Given the description of an element on the screen output the (x, y) to click on. 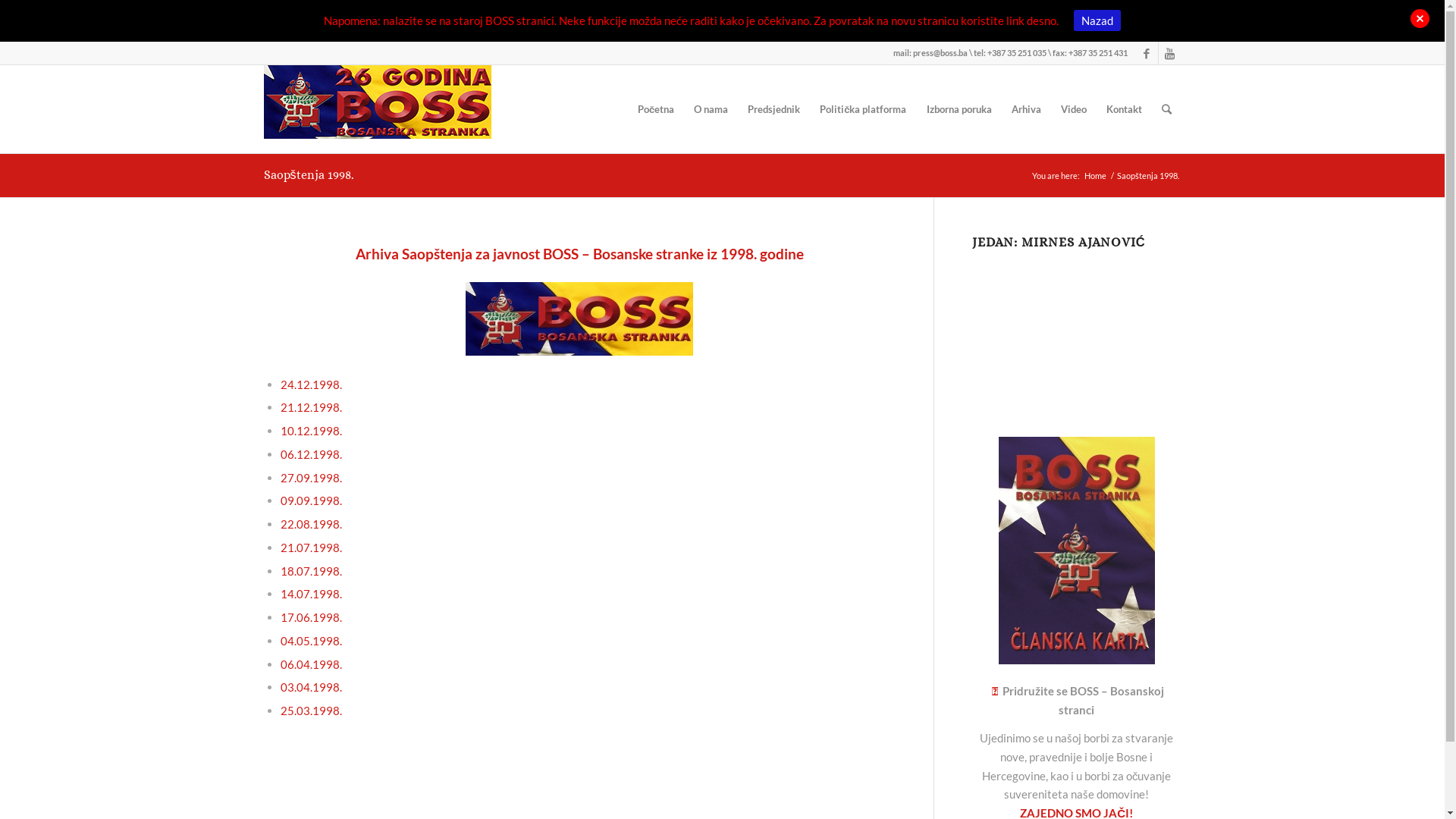
21.12.1998. Element type: text (311, 407)
18.07.1998. Element type: text (311, 570)
Predsjednik Element type: text (773, 109)
17.06.1998. Element type: text (311, 617)
25.03.1998. Element type: text (311, 710)
Kontakt Element type: text (1123, 109)
06.12.1998. Element type: text (311, 454)
21.07.1998. Element type: text (311, 547)
22.08.1998. Element type: text (311, 523)
14.07.1998. Element type: text (311, 593)
Arhiva Element type: text (1025, 109)
Izborna poruka Element type: text (958, 109)
Video Element type: text (1073, 109)
06.04.1998. Element type: text (311, 664)
27.09.1998. Element type: text (311, 477)
O nama Element type: text (710, 109)
04.05.1998. Element type: text (311, 640)
24.12.1998. Element type: text (311, 384)
Home Element type: text (1094, 175)
09.09.1998. Element type: text (311, 500)
Nazad Element type: text (1096, 20)
Facebook Element type: hover (1146, 52)
10.12.1998. Element type: text (311, 430)
Youtube Element type: hover (1169, 52)
03.04.1998. Element type: text (311, 686)
